Given the description of an element on the screen output the (x, y) to click on. 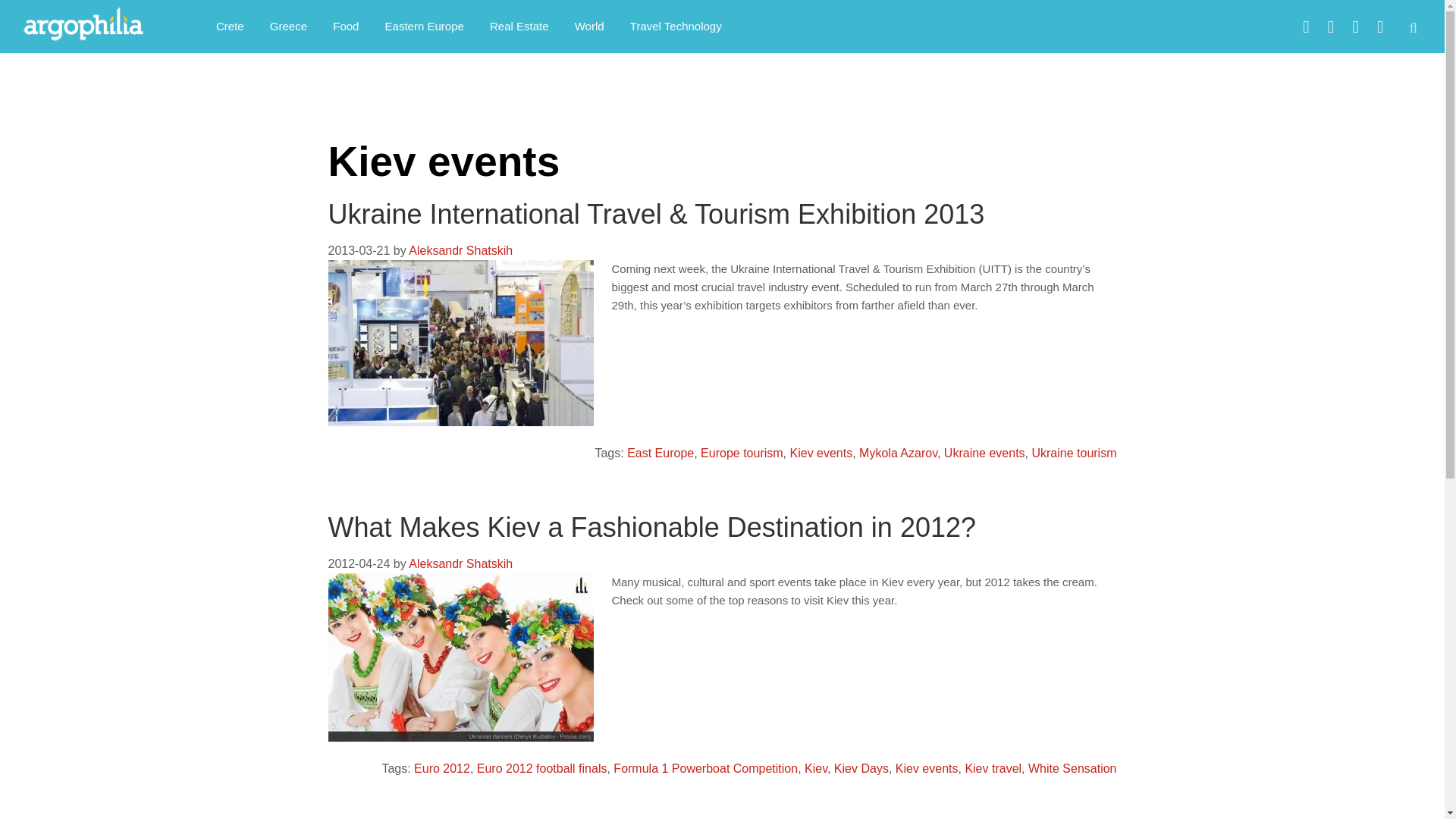
Eastern Europe (425, 26)
Formula 1 Powerboat Competition (704, 768)
Kiev events (821, 452)
Greece (288, 26)
Food (345, 26)
World (589, 26)
Euro 2012 football finals (542, 768)
Real Estate (519, 26)
Ukraine tourism (1073, 452)
Travel Technology (675, 26)
Europe tourism (741, 452)
Euro 2012 (441, 768)
Kiev events (926, 768)
Kiev Days (861, 768)
Crete (230, 26)
